Given the description of an element on the screen output the (x, y) to click on. 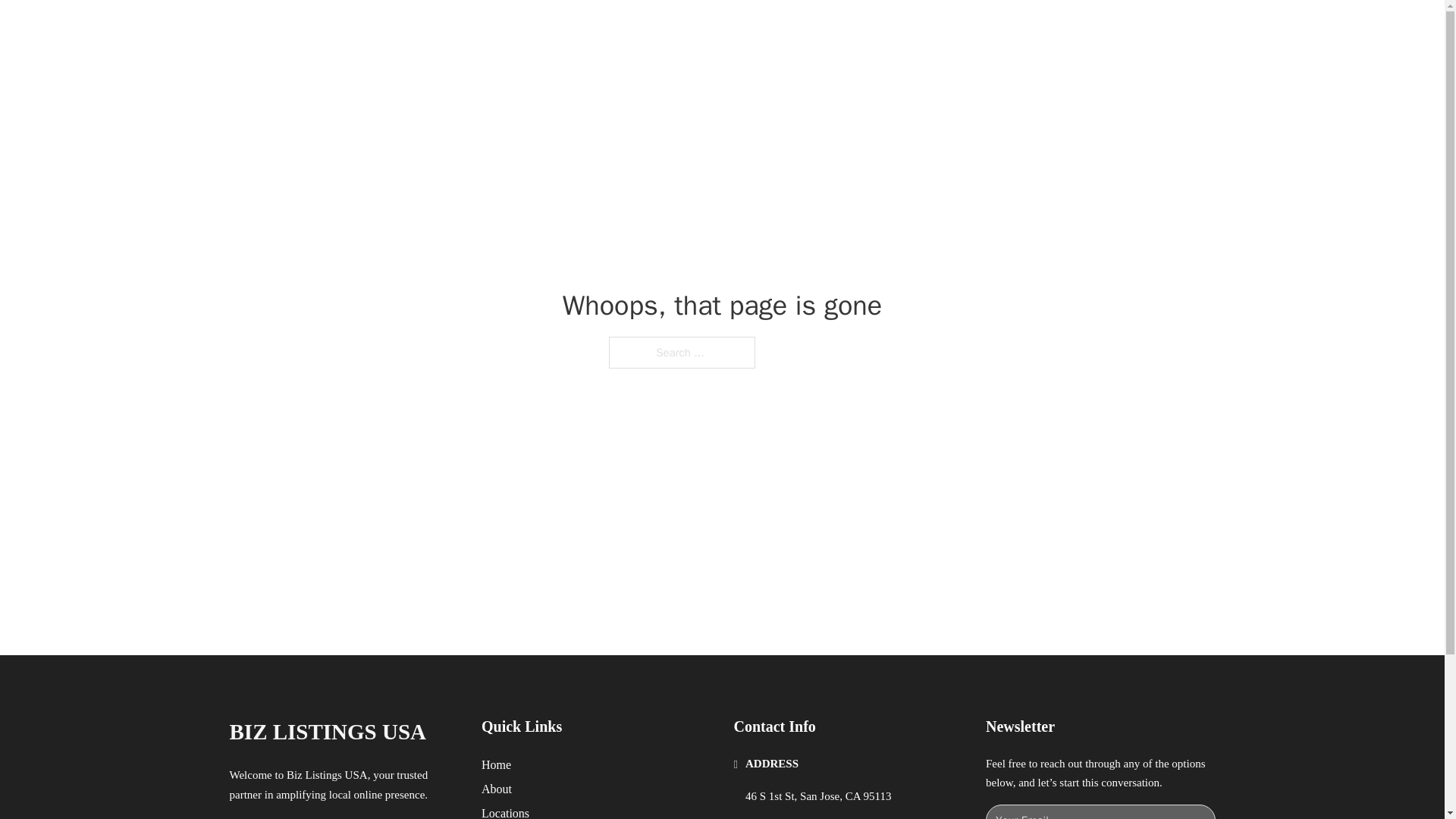
BIZ LISTINGS USA (327, 732)
Locations (505, 811)
BIZ LISTINGS USA (400, 28)
LOCATIONS (990, 29)
Home (496, 764)
HOME (919, 29)
About (496, 788)
